Given the description of an element on the screen output the (x, y) to click on. 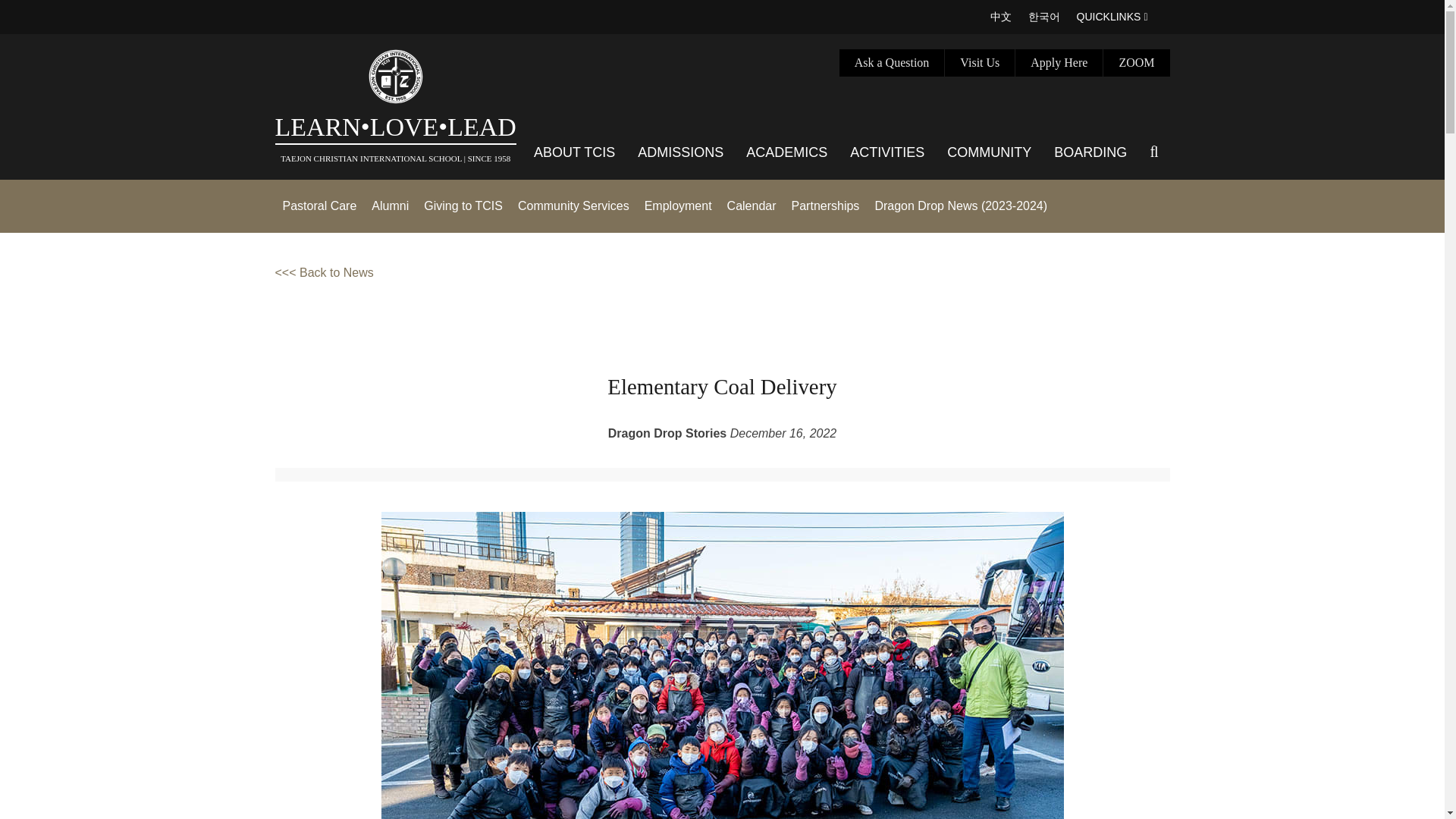
Taejon Christian International School (395, 76)
